Given the description of an element on the screen output the (x, y) to click on. 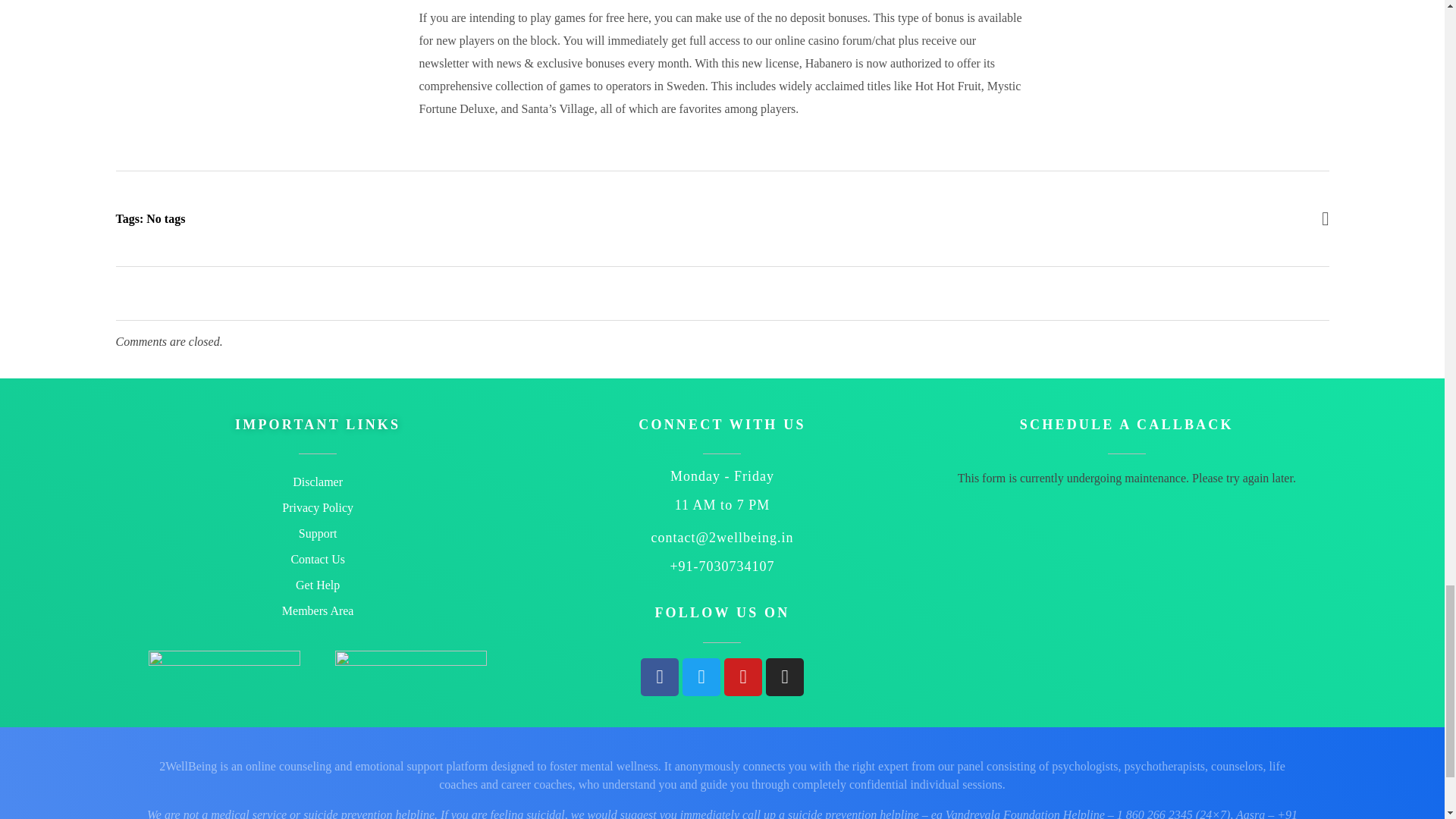
Privacy Policy (317, 507)
Members Area (317, 611)
Disclamer (317, 482)
Support (317, 533)
Contact Us (317, 559)
Get Help (317, 585)
